Given the description of an element on the screen output the (x, y) to click on. 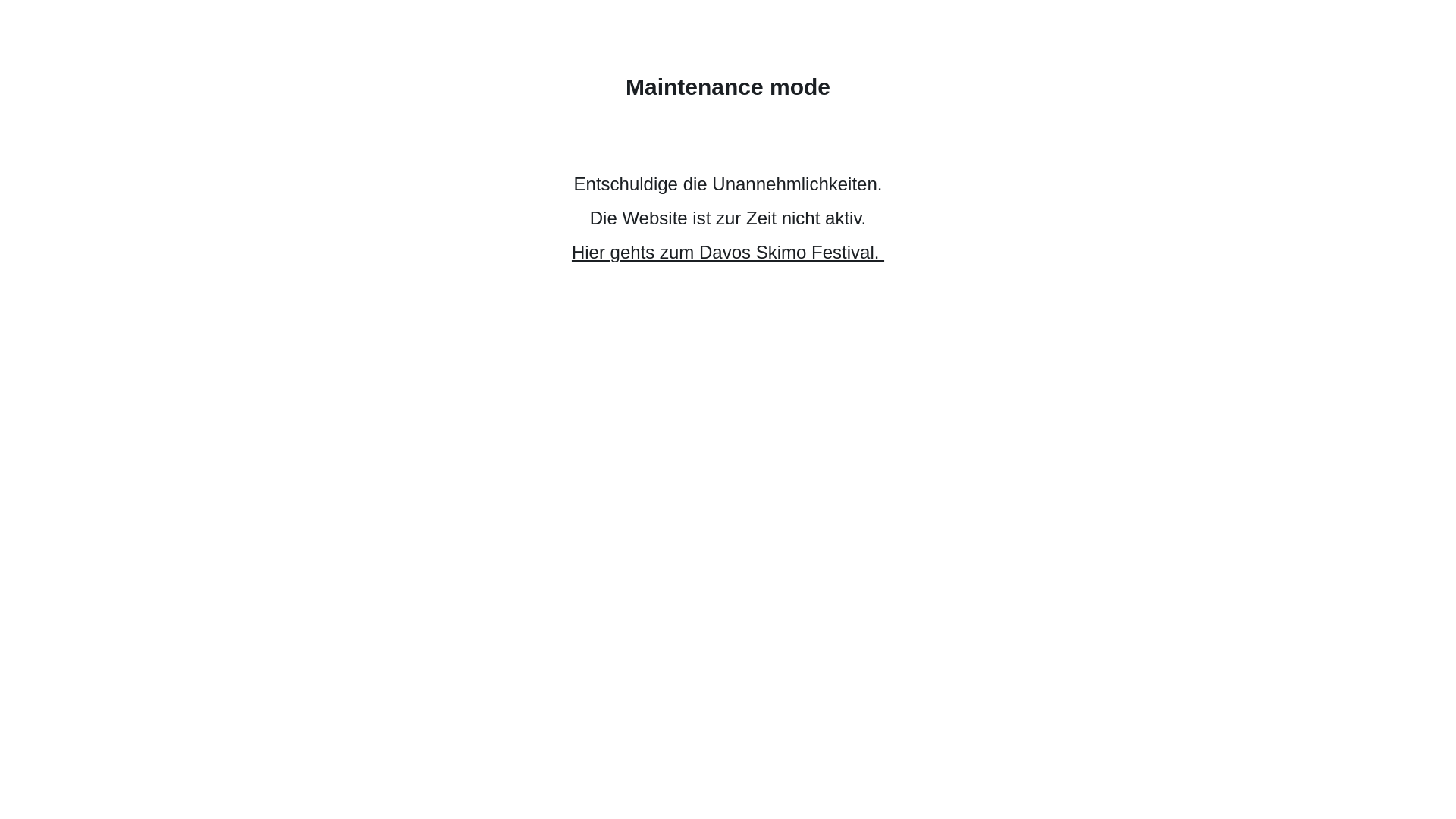
Hier gehts zum Davos Skimo Festival.  Element type: text (727, 251)
